Given the description of an element on the screen output the (x, y) to click on. 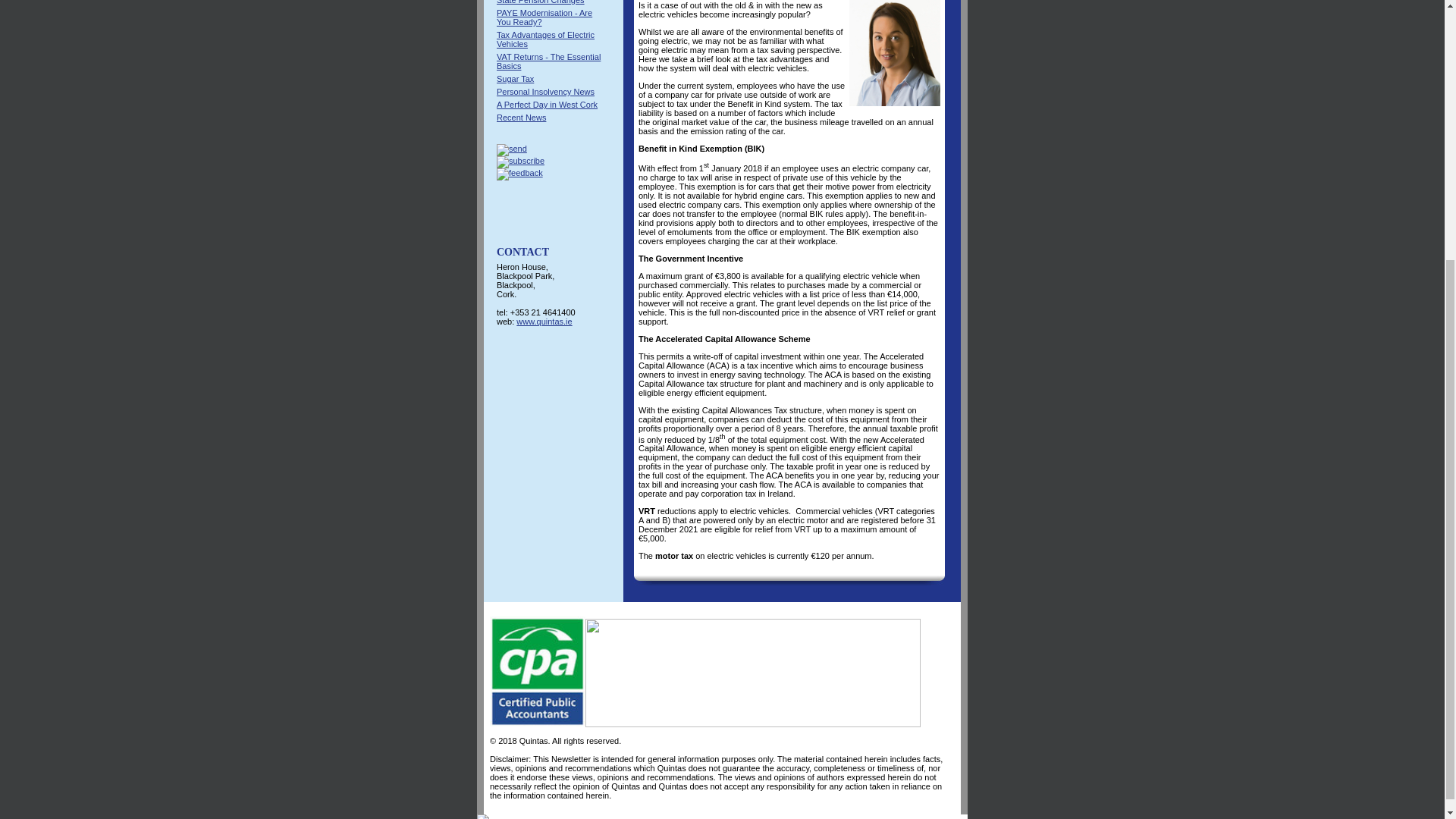
Personal Insolvency News (545, 91)
PAYE Modernisation - Are You Ready? (544, 17)
A Perfect Day in West Cork (546, 103)
State Pension Changes (540, 2)
VAT Returns - The Essential Basics (547, 61)
Sugar Tax (515, 78)
Tax Advantages of Electric Vehicles (545, 39)
www.quintas.ie (544, 320)
Recent News (521, 117)
